Given the description of an element on the screen output the (x, y) to click on. 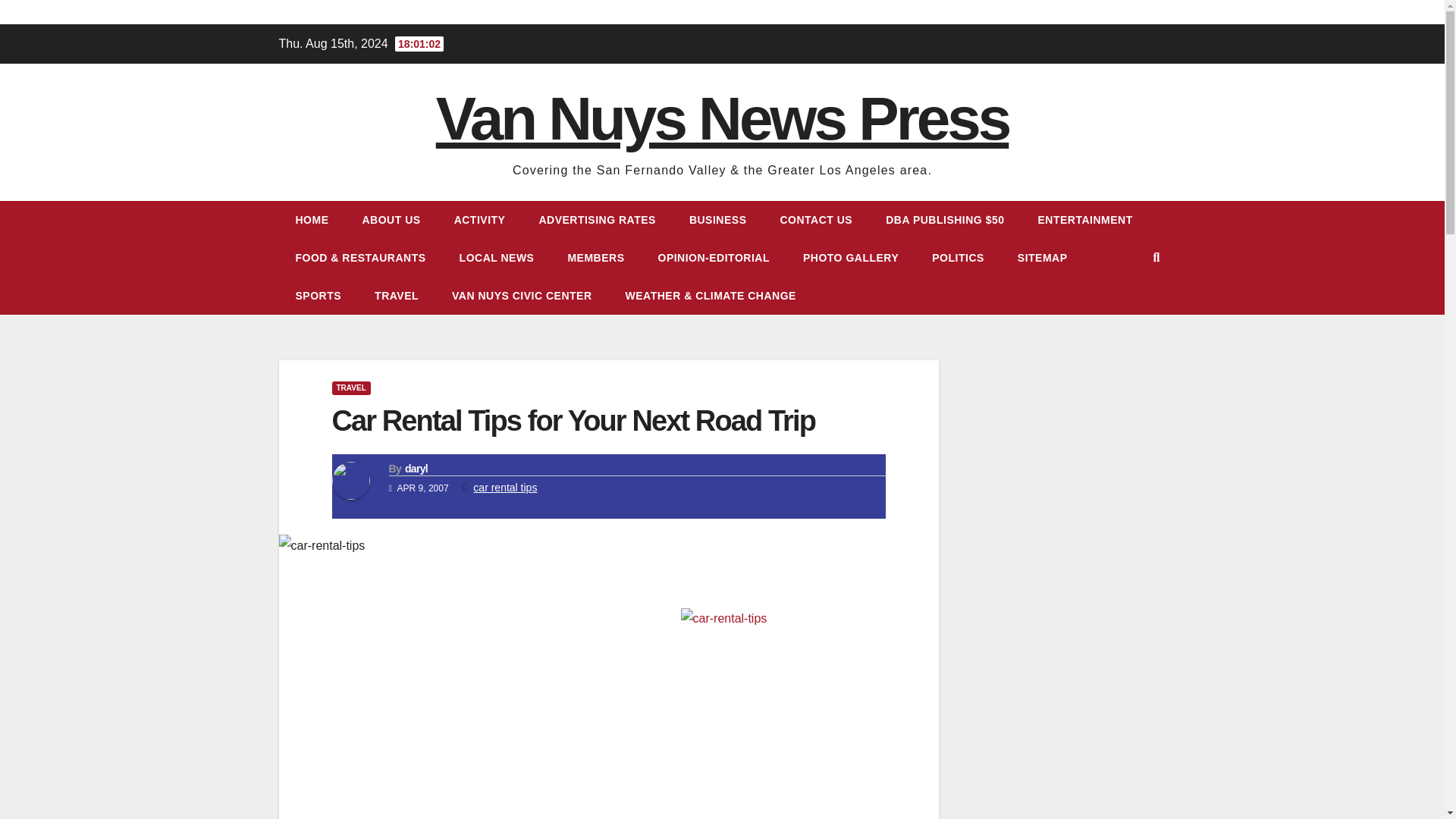
OPINION-EDITORIAL (714, 257)
VAN NUYS CIVIC CENTER (521, 295)
LOCAL NEWS (496, 257)
BUSINESS (717, 219)
Permalink to: Car Rental Tips for Your Next Road Trip (573, 420)
ABOUT US (392, 219)
PHOTO GALLERY (850, 257)
SPORTS (318, 295)
ACTIVITY (480, 219)
car-rental-tips (794, 713)
